Given the description of an element on the screen output the (x, y) to click on. 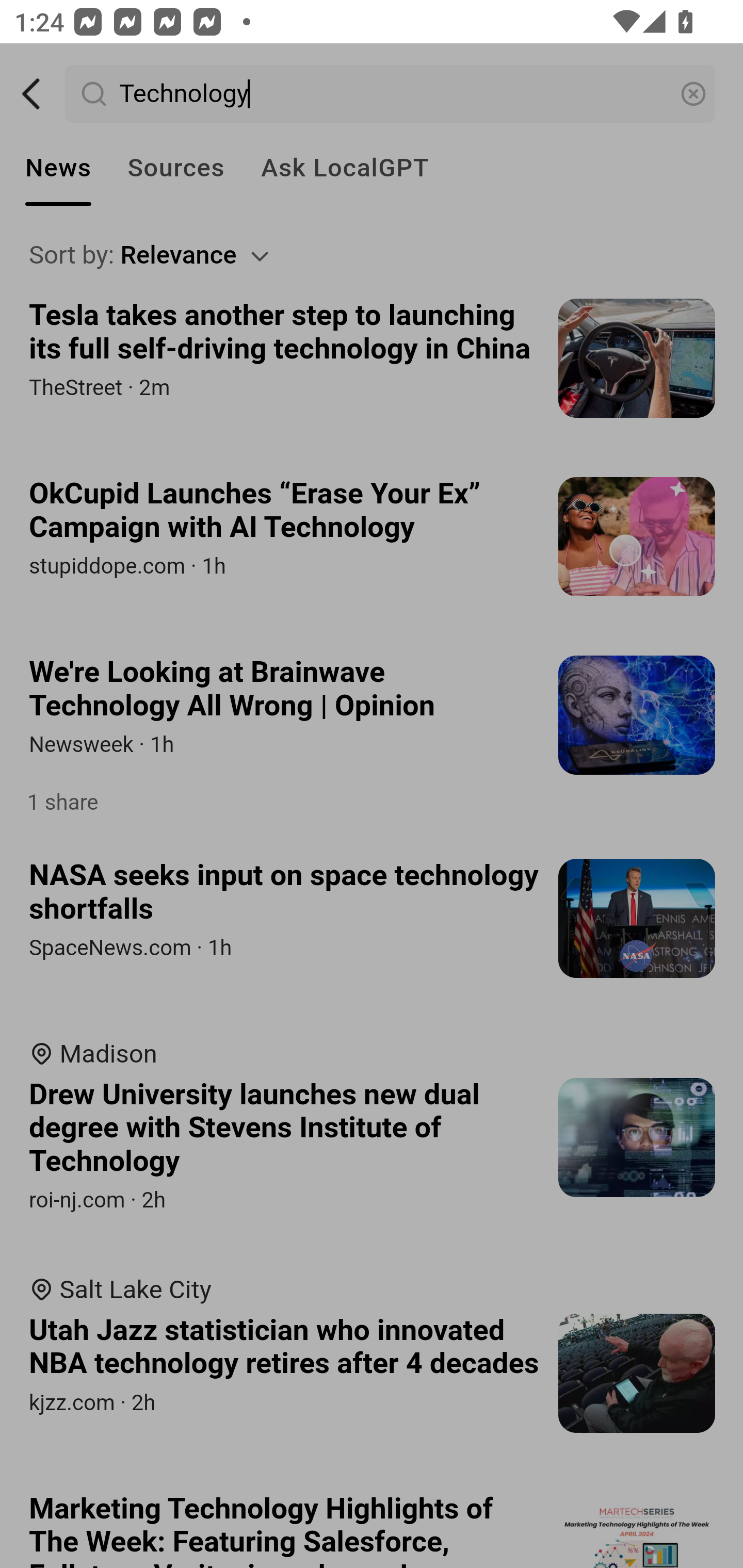
Technology (390, 93)
News (58, 168)
Sources (175, 168)
Ask LocalGPT (344, 168)
Sort by:  Relevance (372, 254)
